Given the description of an element on the screen output the (x, y) to click on. 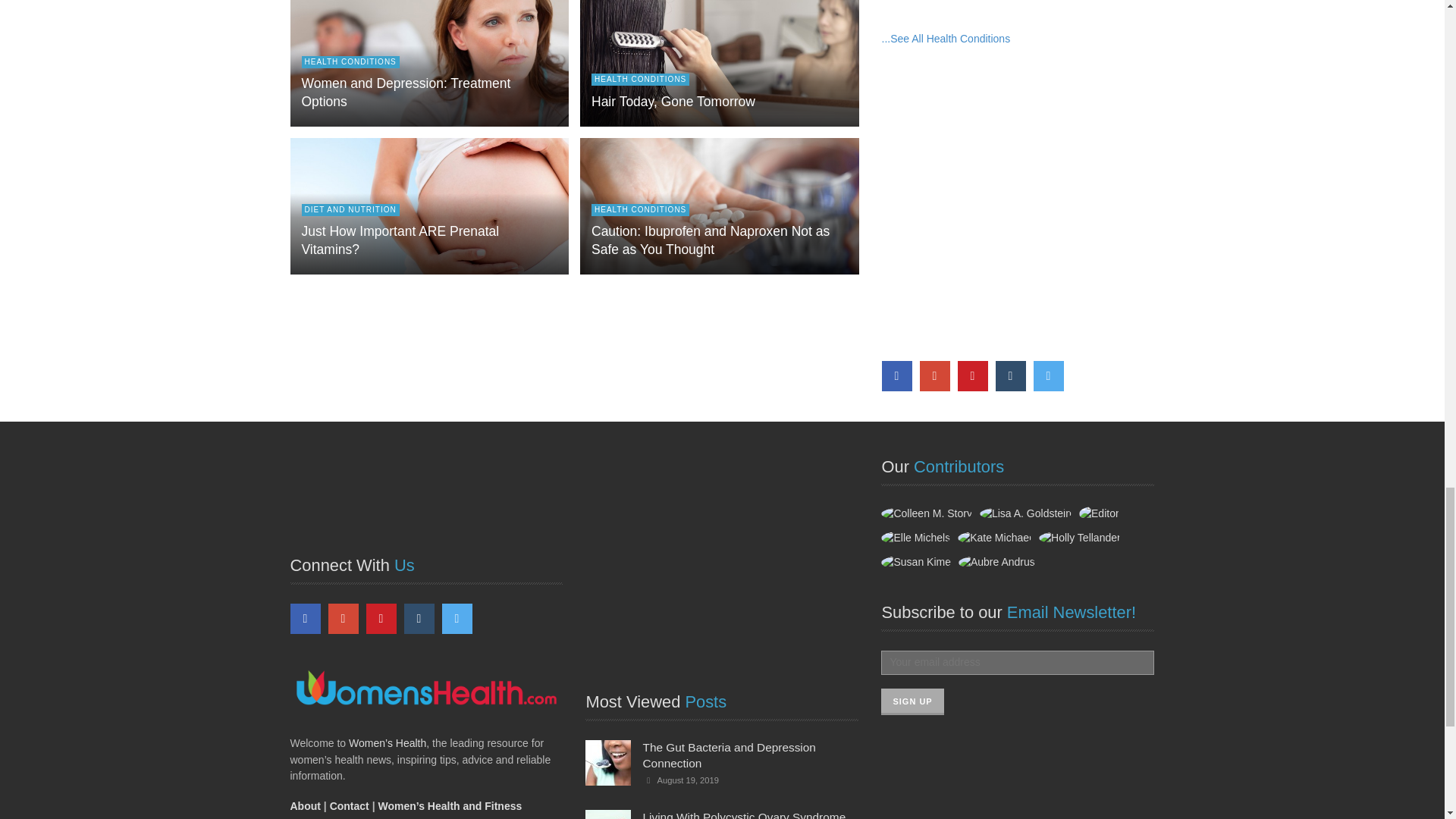
Women and Depression: Treatment Options (406, 92)
HEALTH CONDITIONS (349, 61)
View all posts in Diet and Nutrition (349, 209)
View all posts in Health Conditions (349, 61)
View all posts in Health Conditions (639, 79)
Sign up (911, 701)
